Given the description of an element on the screen output the (x, y) to click on. 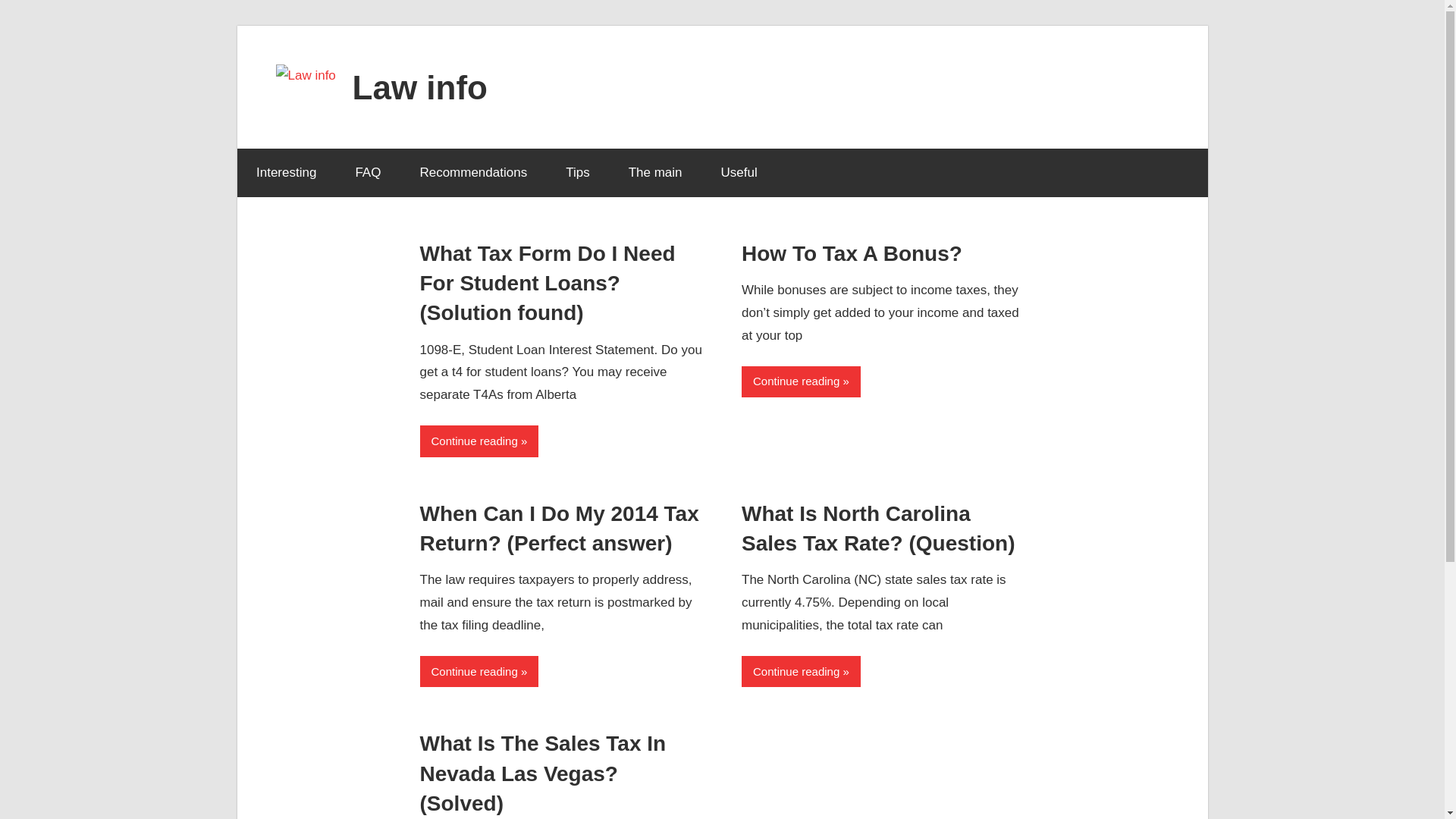
The main (654, 172)
Law info (419, 86)
Continue reading (800, 381)
Useful (738, 172)
Tips (578, 172)
How To Tax A Bonus? (851, 253)
Continue reading (479, 671)
Interesting (284, 172)
FAQ (368, 172)
Continue reading (800, 671)
Continue reading (479, 440)
Recommendations (473, 172)
